Given the description of an element on the screen output the (x, y) to click on. 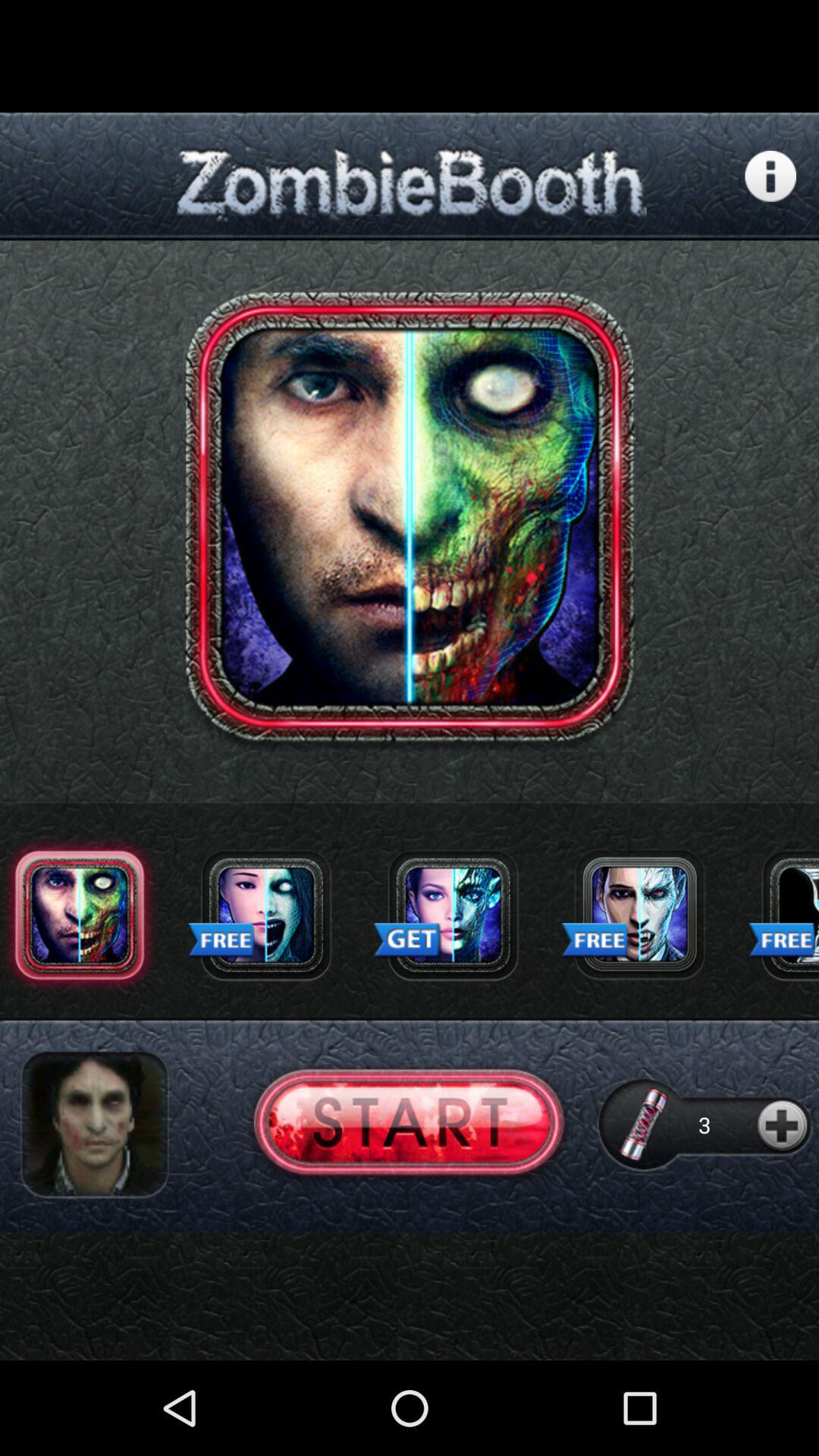
select image (94, 1124)
